Given the description of an element on the screen output the (x, y) to click on. 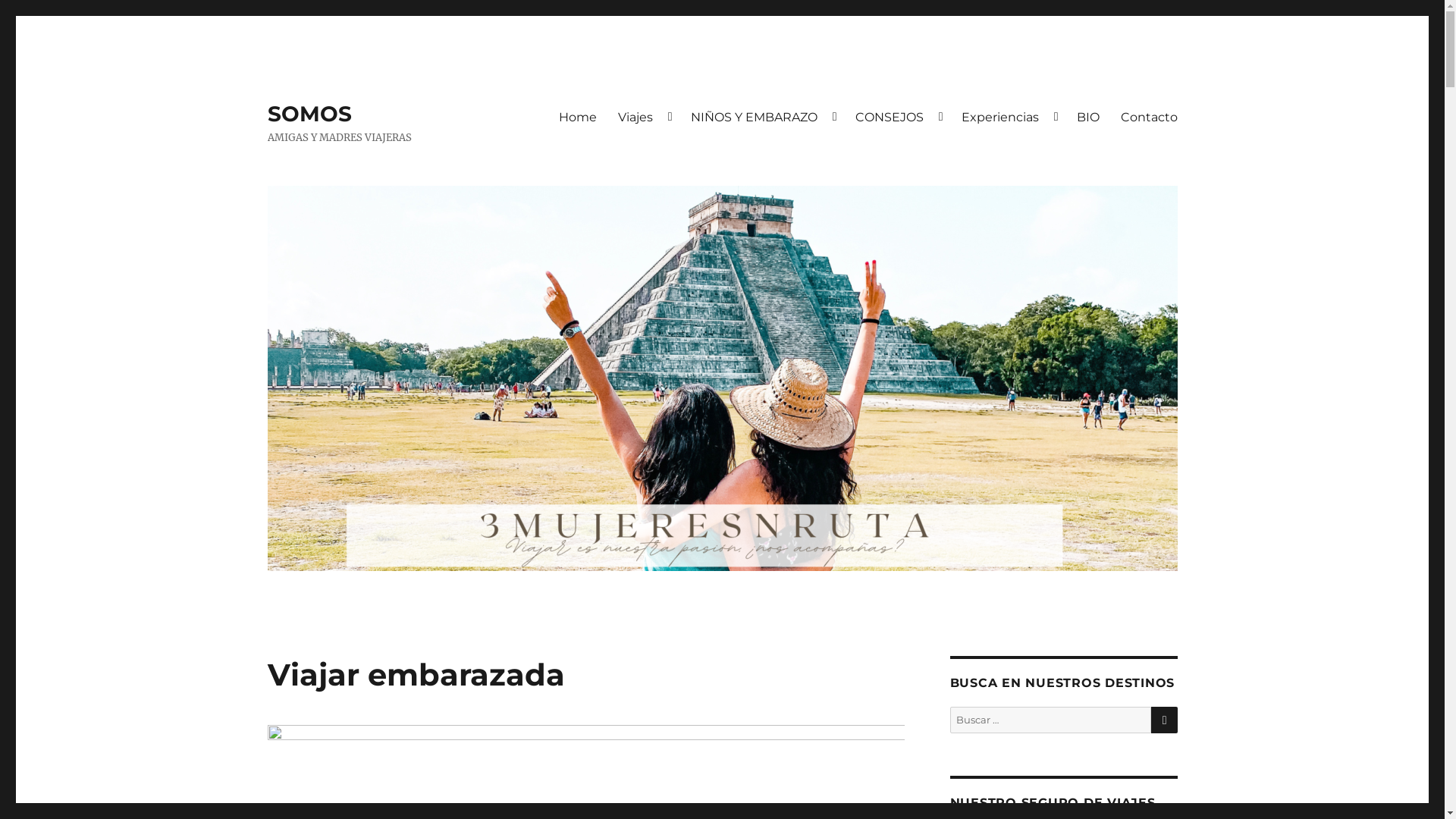
Home Element type: text (576, 116)
Viajes Element type: text (642, 116)
SOMOS Element type: text (308, 113)
Contacto Element type: text (1149, 116)
BIO Element type: text (1088, 116)
Experiencias Element type: text (1008, 116)
CONSEJOS Element type: text (897, 116)
BUSCAR Element type: text (1164, 719)
